Given the description of an element on the screen output the (x, y) to click on. 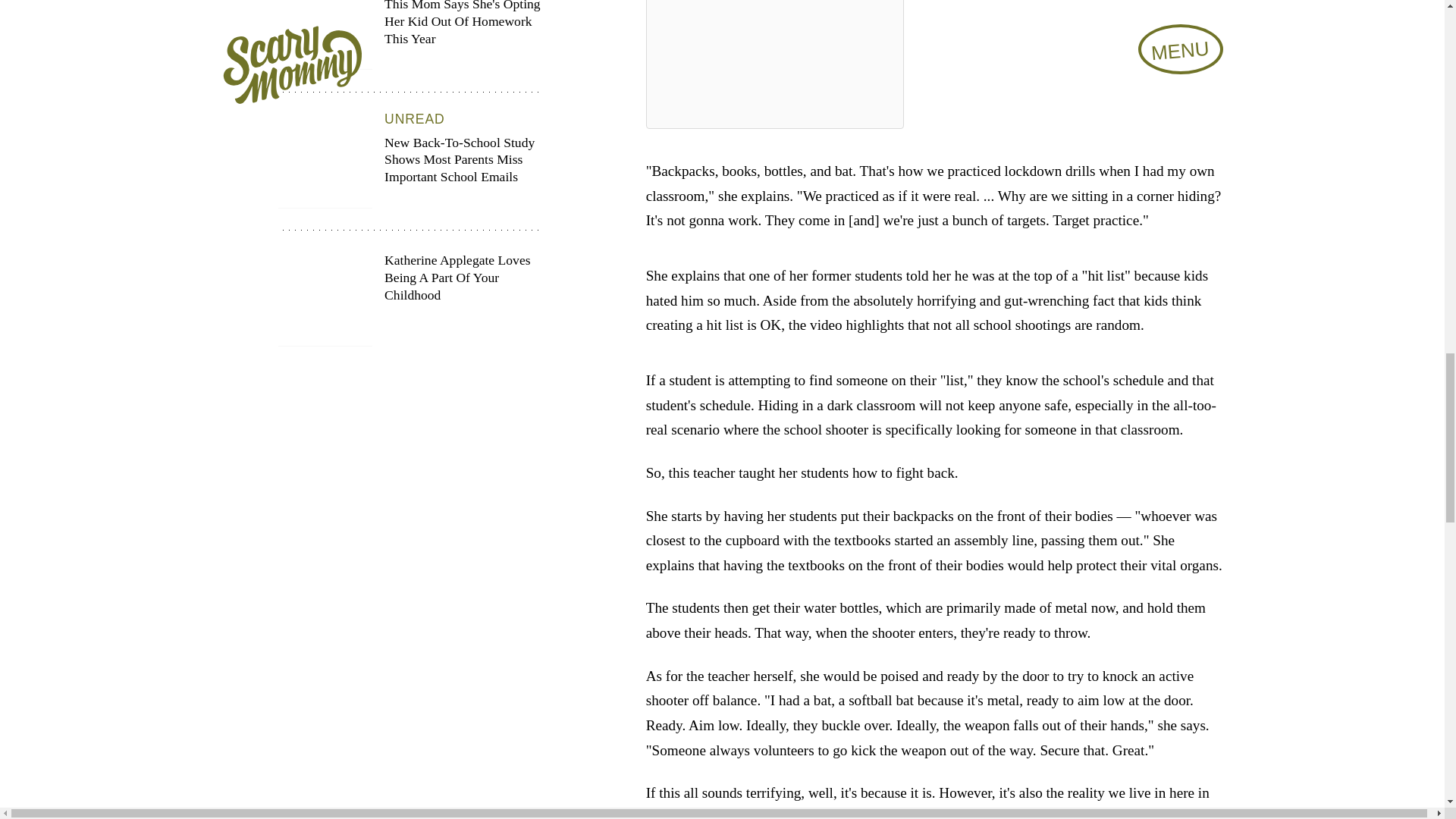
Katherine Applegate Loves Being A Part Of Your Childhood (410, 299)
USA Today (1021, 814)
